Given the description of an element on the screen output the (x, y) to click on. 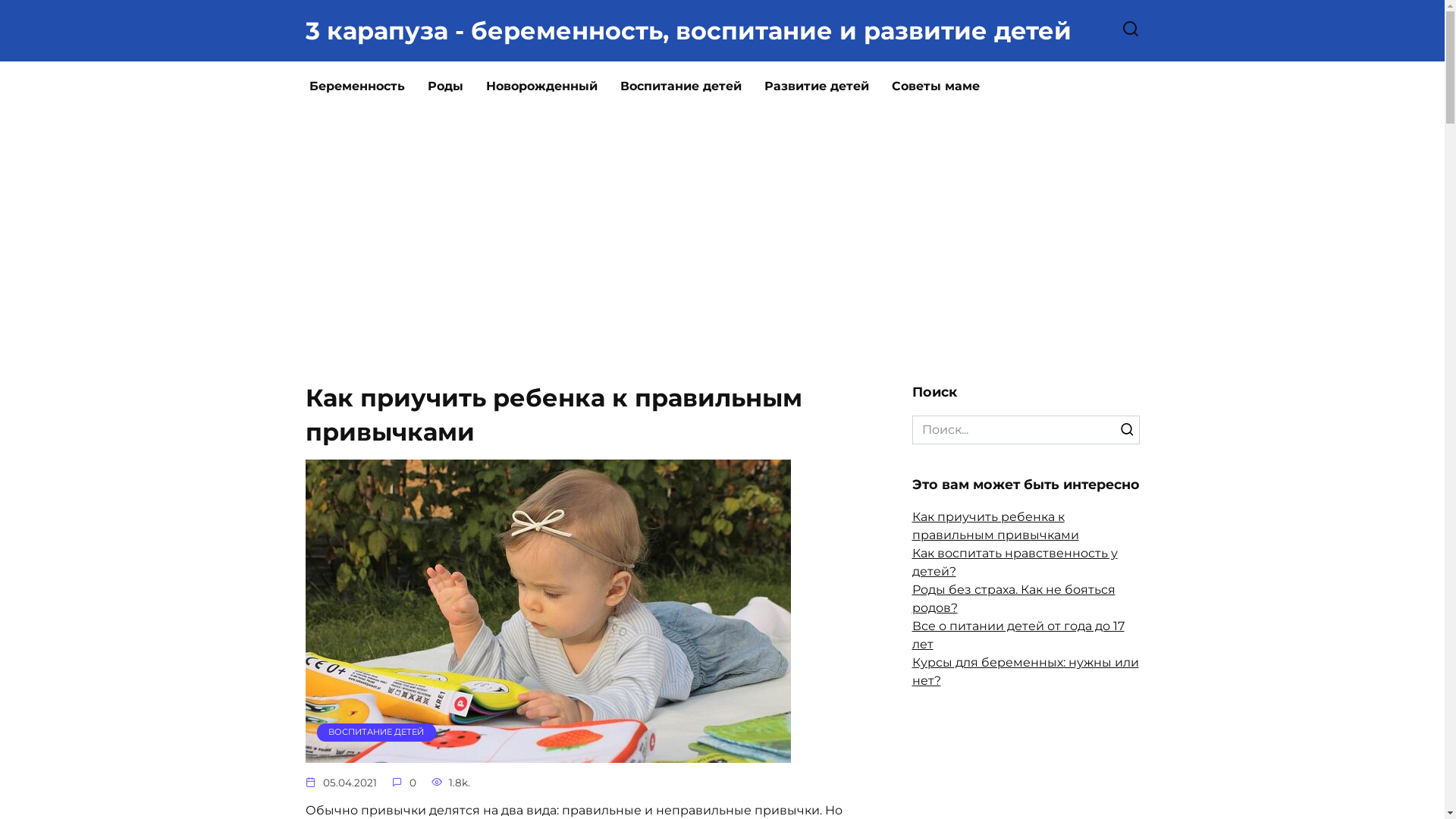
Advertisement Element type: hover (721, 257)
